Given the description of an element on the screen output the (x, y) to click on. 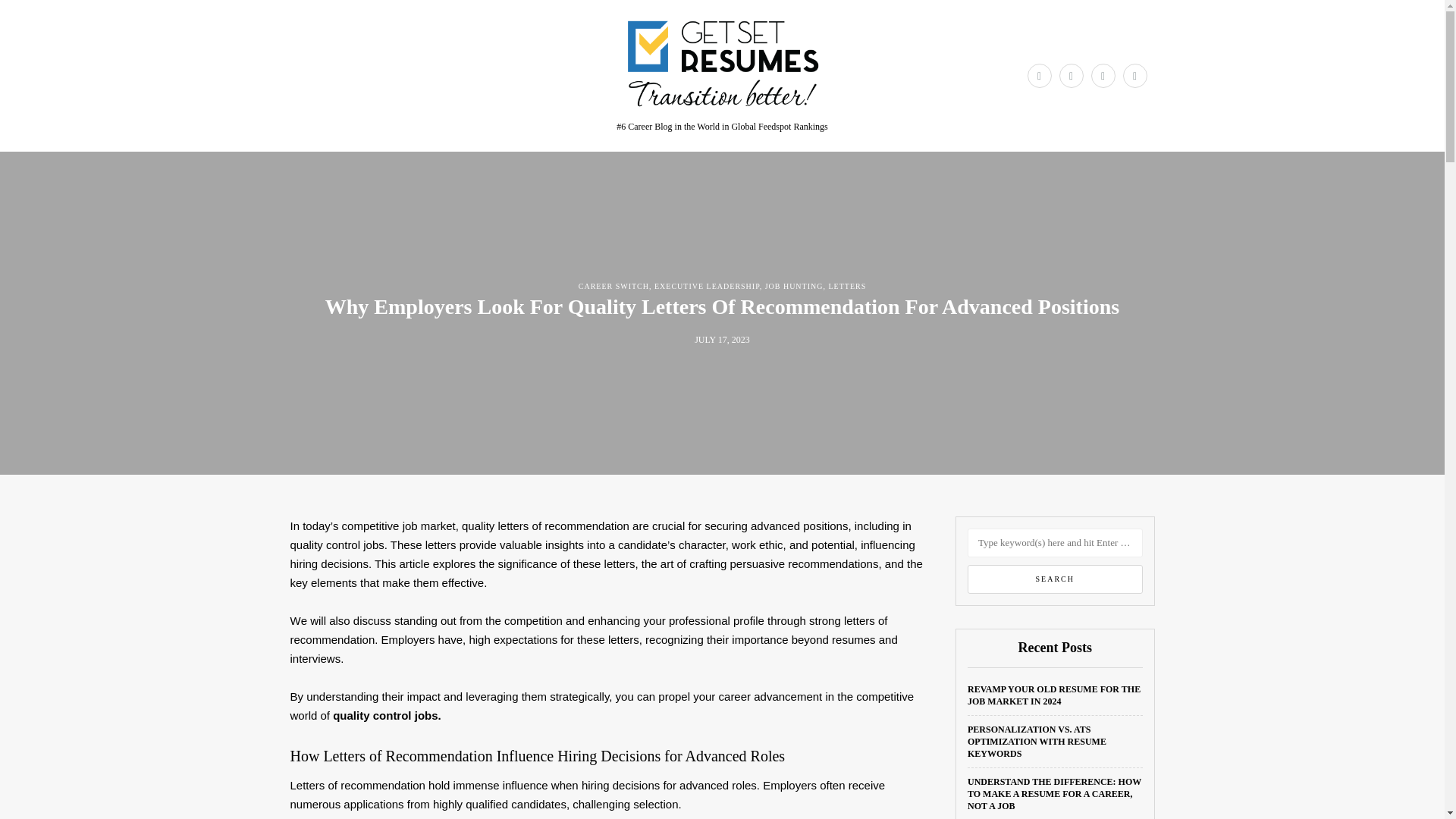
CAREER SWITCH (613, 285)
Search (1055, 579)
EXECUTIVE LEADERSHIP (706, 285)
JOB HUNTING (794, 285)
PERSONALIZATION VS. ATS OPTIMIZATION WITH RESUME KEYWORDS (1037, 741)
LETTERS (847, 285)
Search (1055, 579)
REVAMP YOUR OLD RESUME FOR THE JOB MARKET IN 2024 (1054, 694)
